Given the description of an element on the screen output the (x, y) to click on. 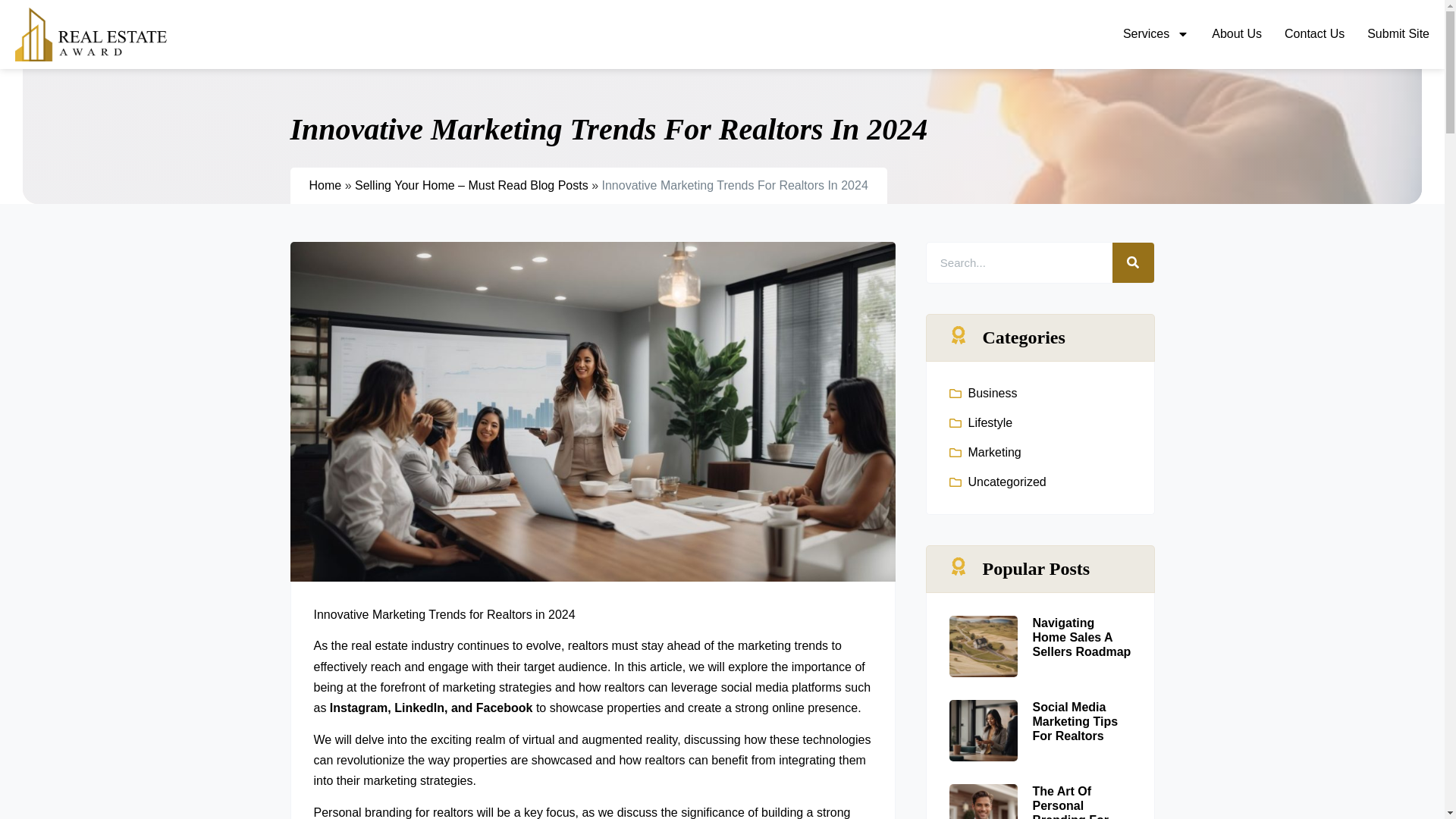
Submit Site (1398, 33)
About Us (1236, 33)
Services (1155, 33)
Contact Us (1313, 33)
